Given the description of an element on the screen output the (x, y) to click on. 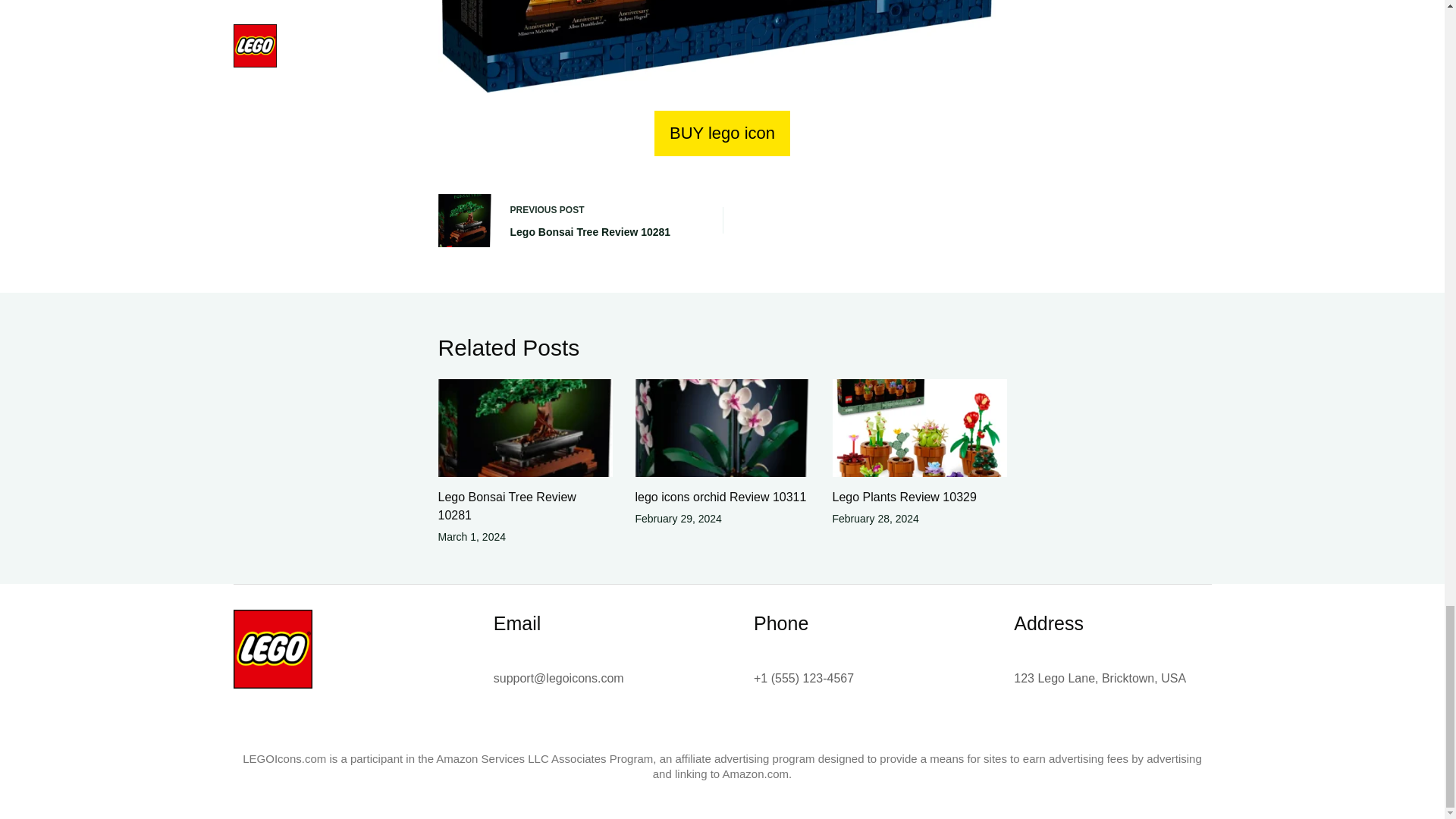
BUY lego icon (721, 133)
lego icons orchid Review 10311 (720, 496)
Lego Bonsai Tree Review 10281 (507, 505)
Lego Plants Review 10329 (569, 220)
